Given the description of an element on the screen output the (x, y) to click on. 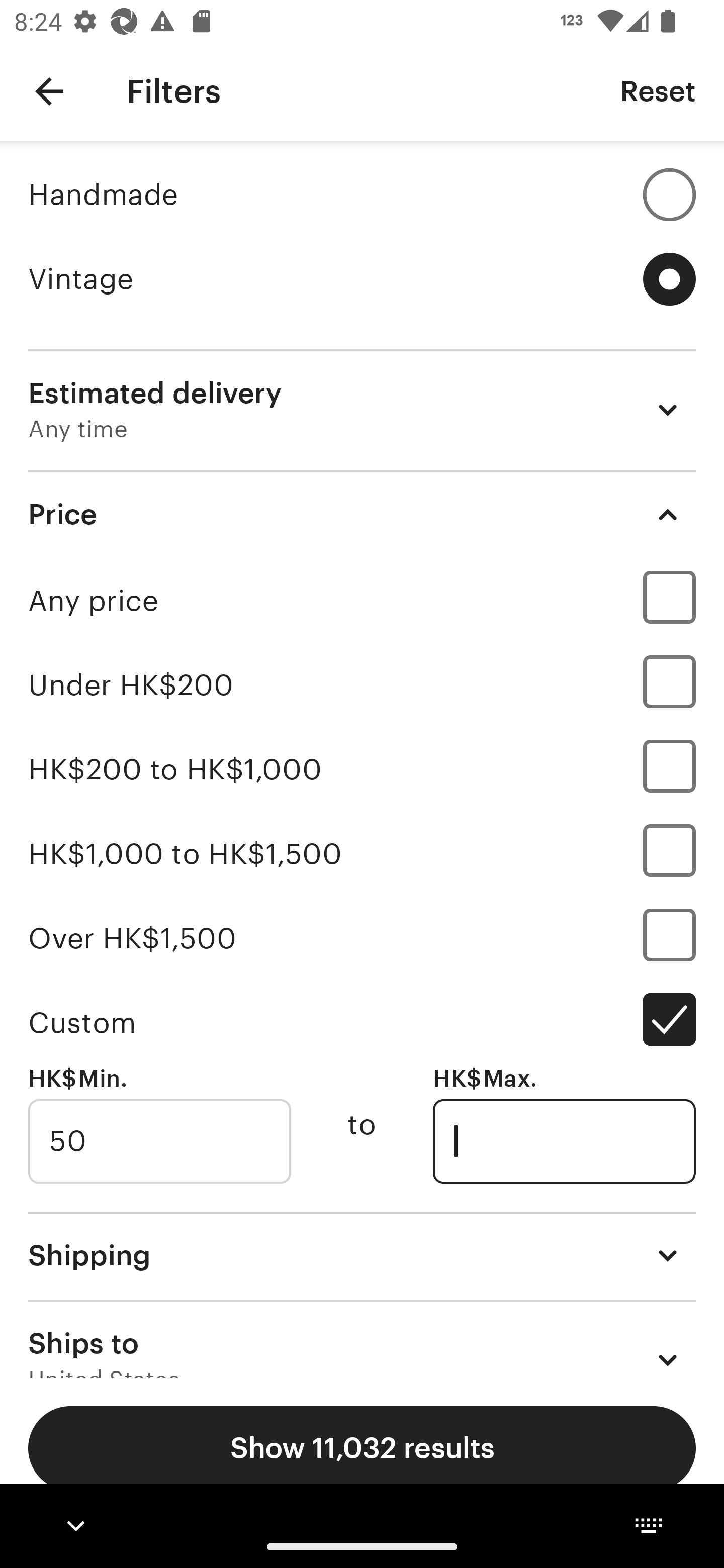
Navigate up (49, 91)
Reset (657, 90)
Handmade (362, 194)
Vintage (362, 278)
Estimated delivery Any time (362, 409)
Price (362, 514)
Any price (362, 600)
Under HK$200 (362, 684)
HK$200 to HK$1,000 (362, 769)
HK$1,000 to HK$1,500 (362, 853)
Over HK$1,500 (362, 937)
Custom (362, 1022)
50 (159, 1141)
Shipping (362, 1255)
Ships to United States (362, 1338)
Show 11,032 results (361, 1448)
